Given the description of an element on the screen output the (x, y) to click on. 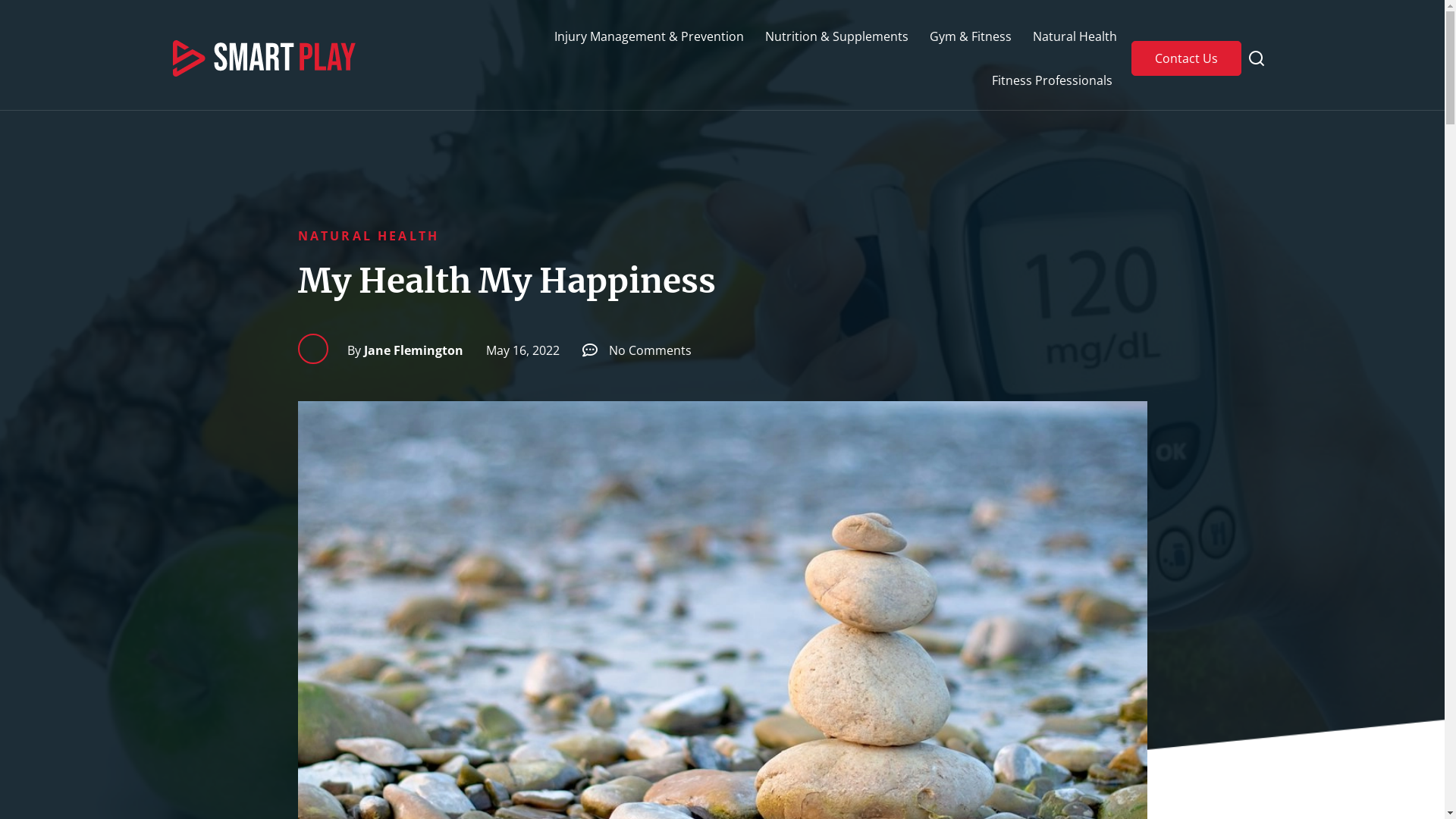
Fitness Professionals Element type: text (1051, 80)
Contact Us Element type: text (1186, 57)
Nutrition & Supplements Element type: text (836, 36)
No Comments Element type: text (636, 350)
Injury Management & Prevention Element type: text (649, 36)
Natural Health Element type: text (1074, 36)
Jane Flemington Element type: text (405, 350)
May 16, 2022 Element type: text (516, 350)
Gym & Fitness Element type: text (970, 36)
